Given the description of an element on the screen output the (x, y) to click on. 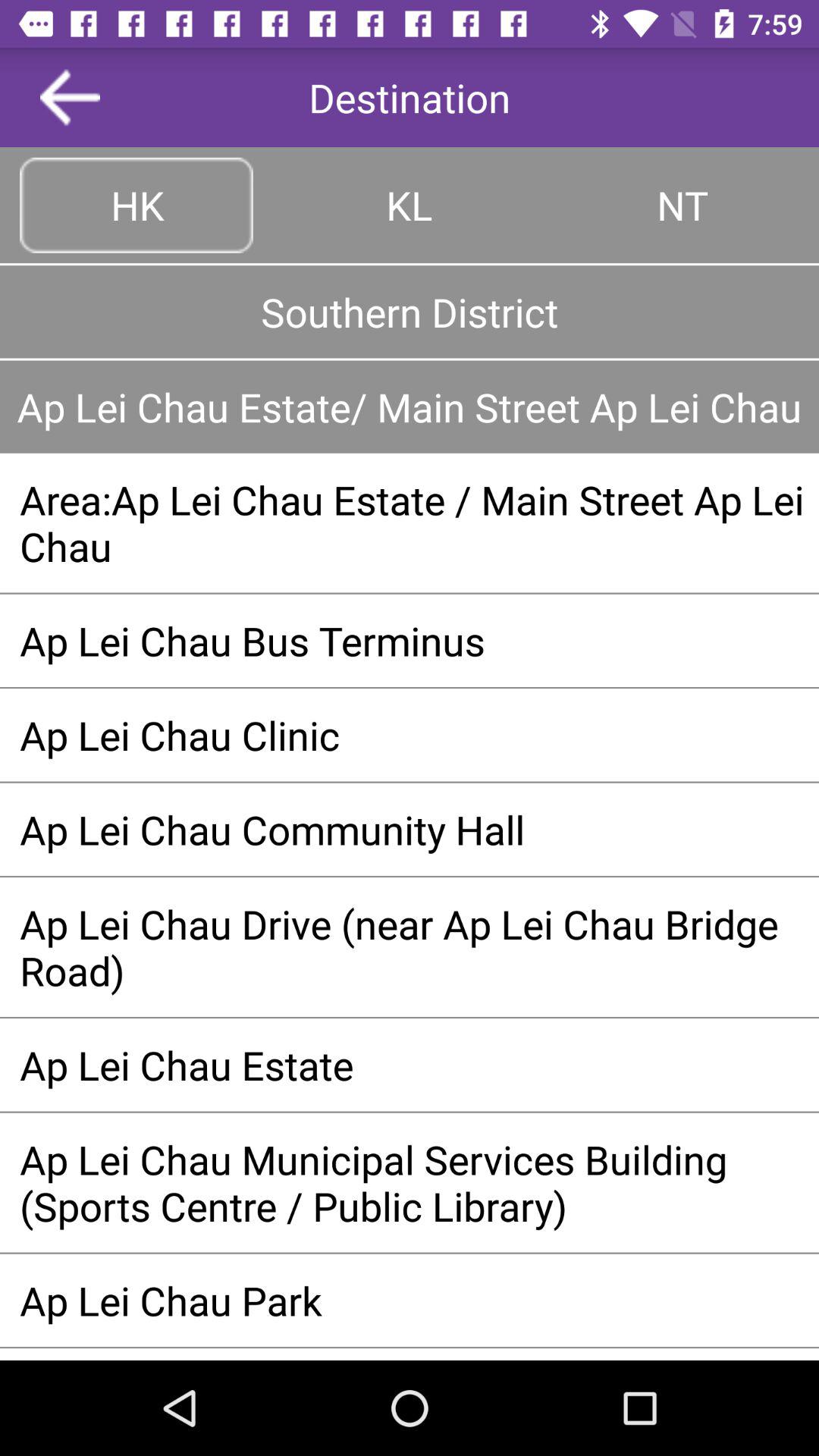
click the icon next to hk icon (409, 205)
